Given the description of an element on the screen output the (x, y) to click on. 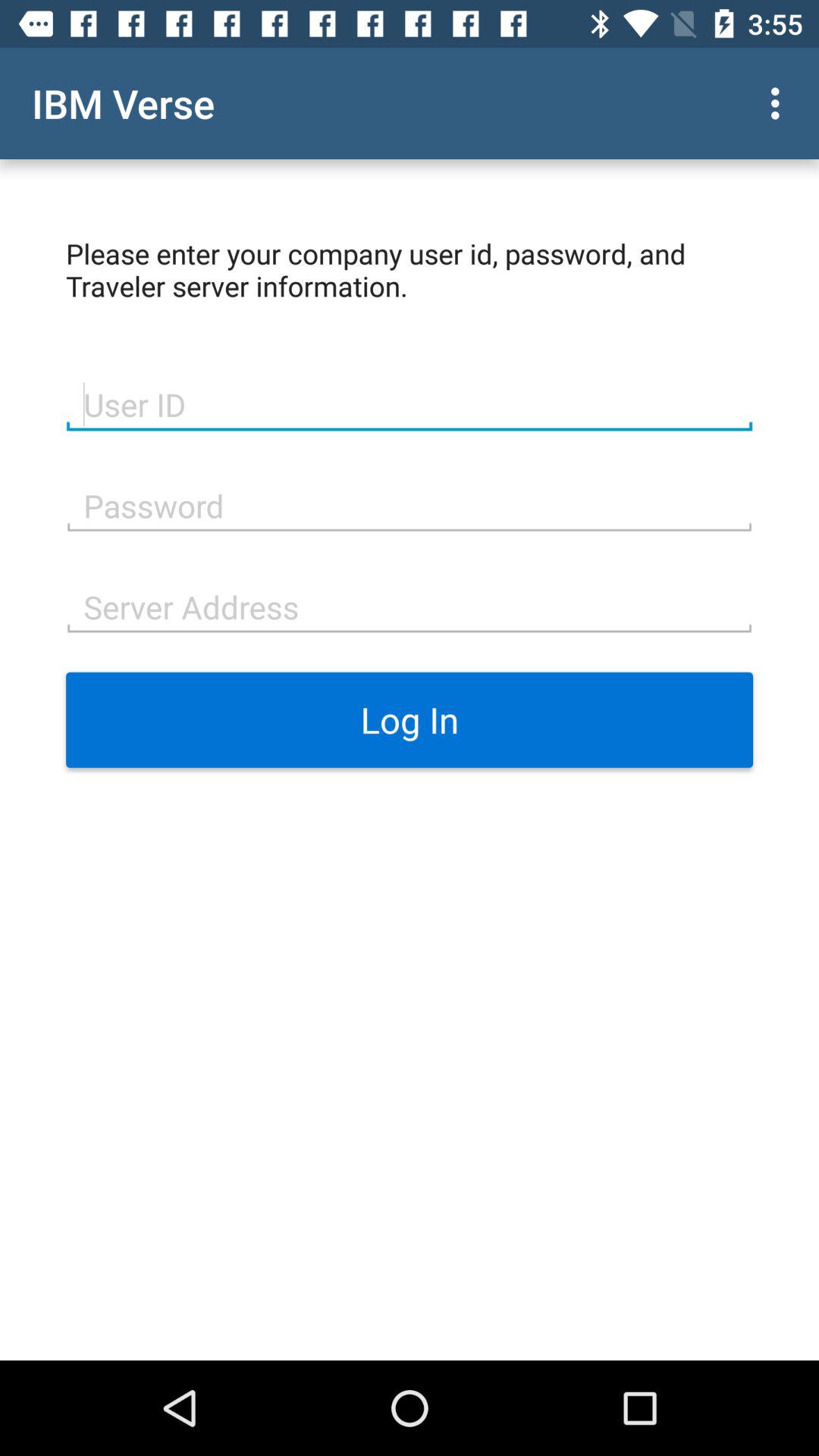
select the app to the right of ibm verse icon (779, 103)
